Given the description of an element on the screen output the (x, y) to click on. 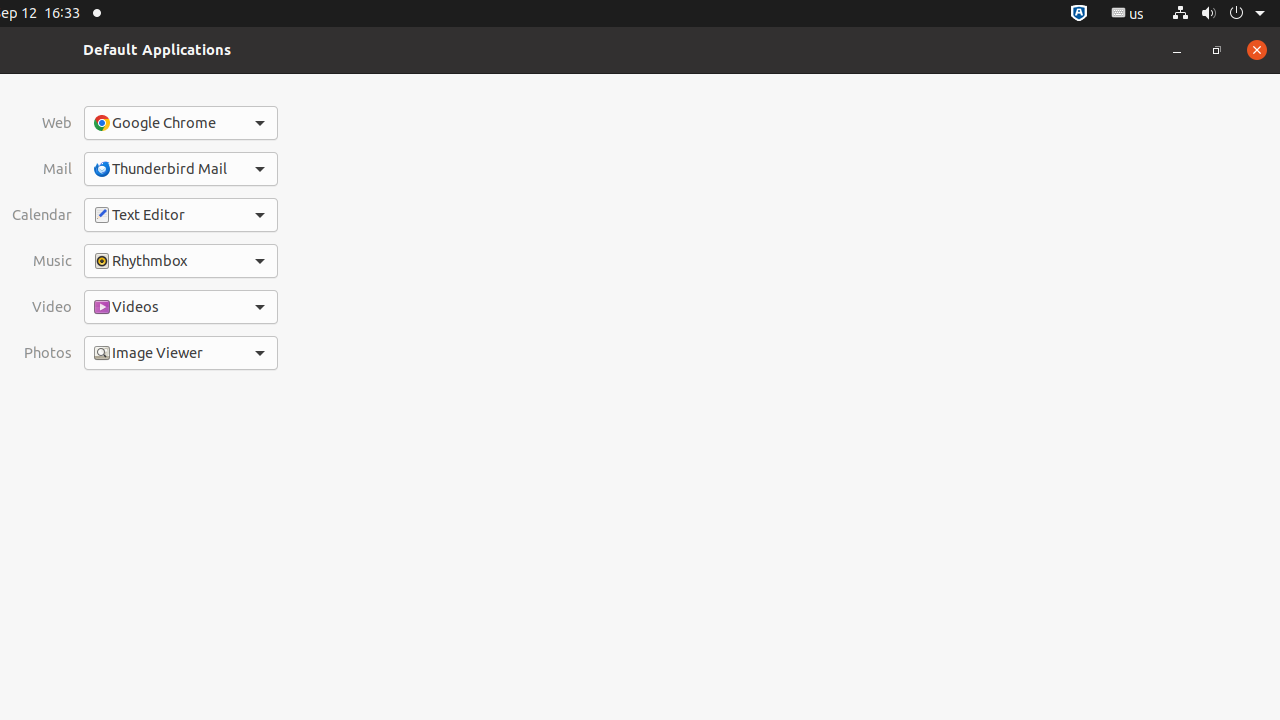
Restore Element type: push-button (1217, 50)
Photos Element type: label (42, 352)
Minimize Element type: push-button (1177, 50)
